Given the description of an element on the screen output the (x, y) to click on. 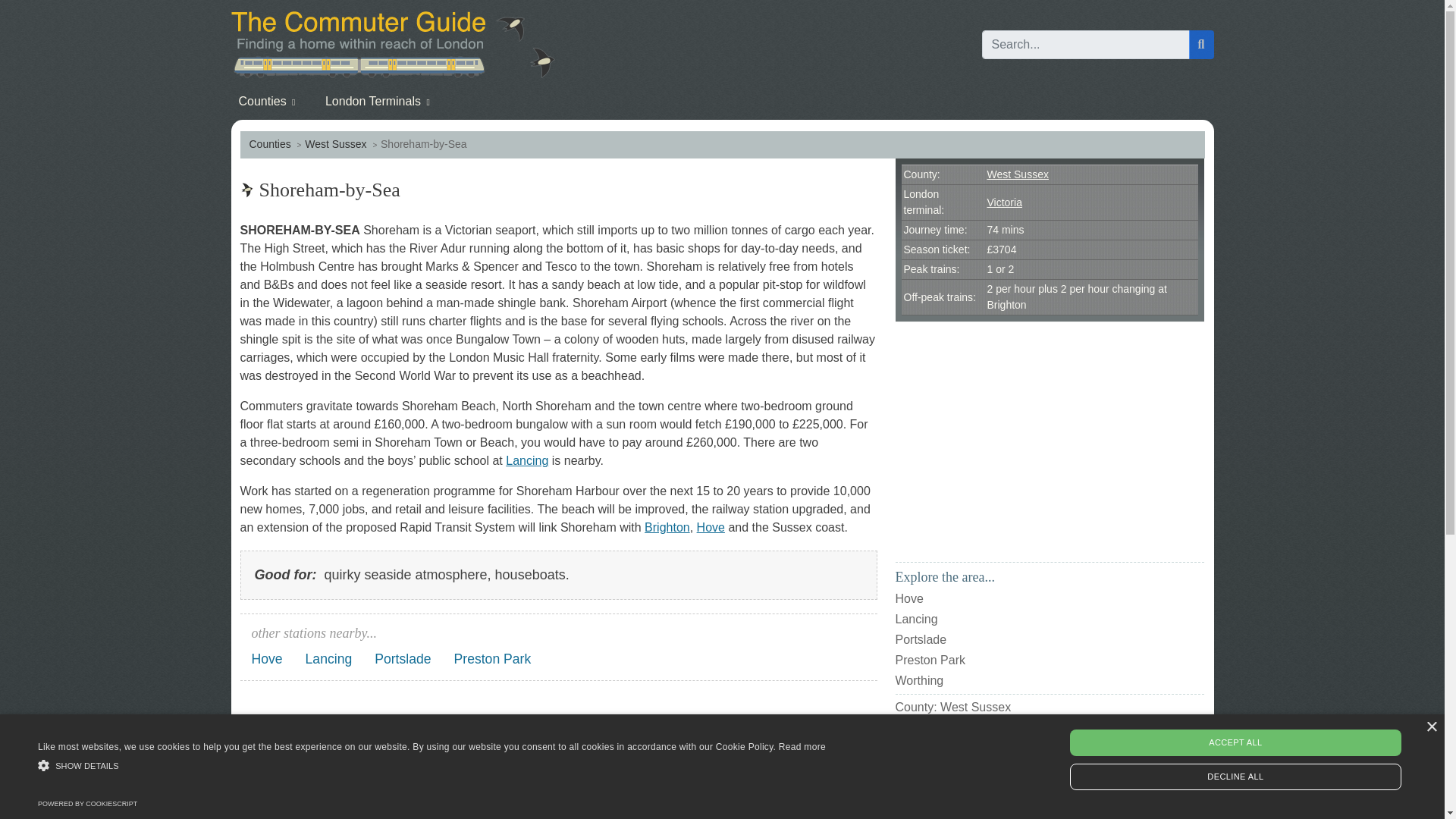
Hove (266, 659)
search (1201, 44)
Portslade (402, 659)
Counties (268, 143)
West Sussex (335, 143)
Brighton, East Sussex (667, 526)
Lancing, West Sussex (526, 460)
Counties (268, 143)
West Sussex (335, 143)
Preston Park (492, 659)
Lancing (328, 659)
Hove, East Sussex (711, 526)
